Given the description of an element on the screen output the (x, y) to click on. 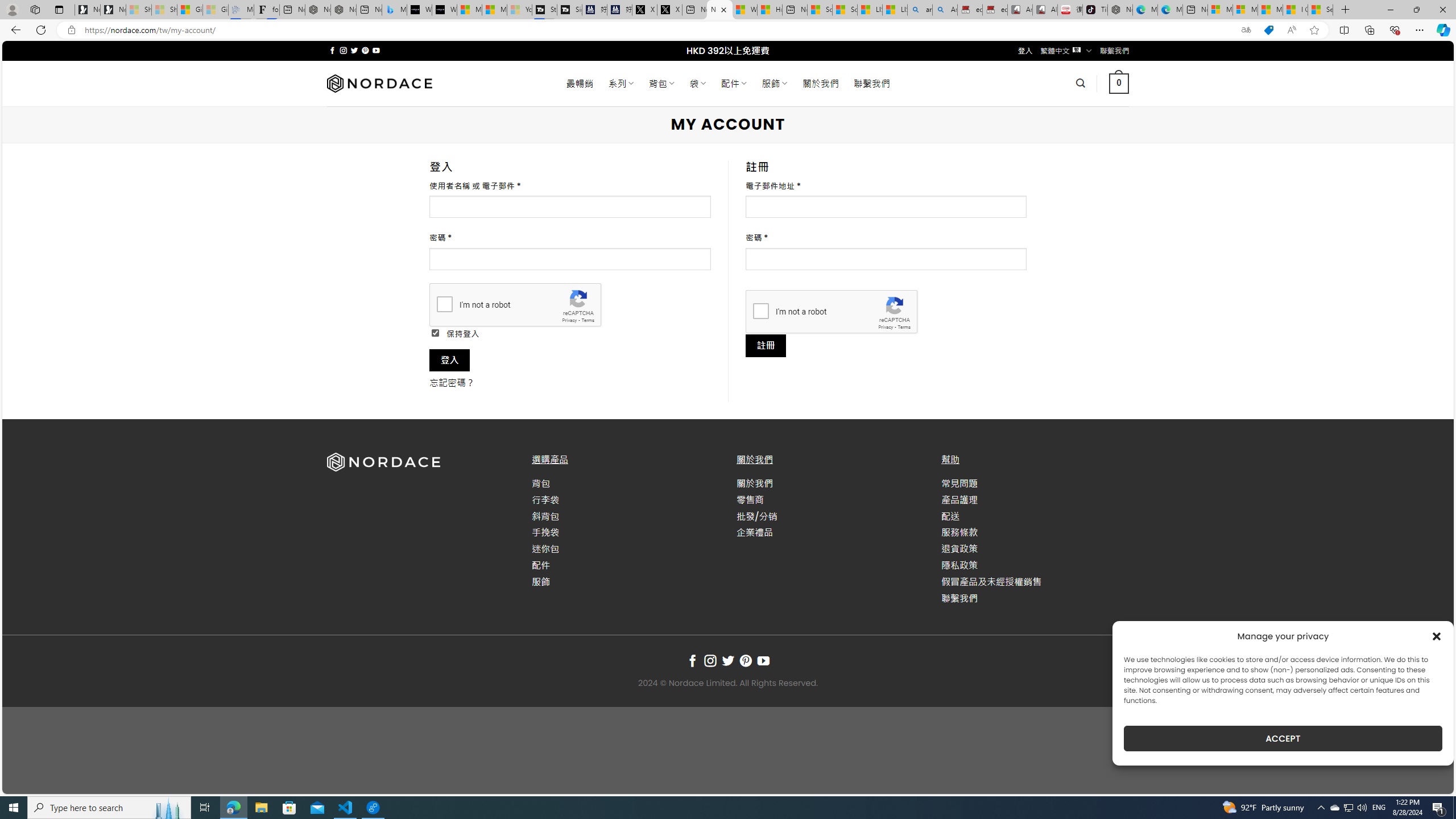
Follow on Twitter (727, 660)
This site has coupons! Shopping in Microsoft Edge (1268, 29)
Nordace - My Account (718, 9)
Newsletter Sign Up (113, 9)
I'm not a robot (760, 310)
amazon - Search (919, 9)
X (669, 9)
